Given the description of an element on the screen output the (x, y) to click on. 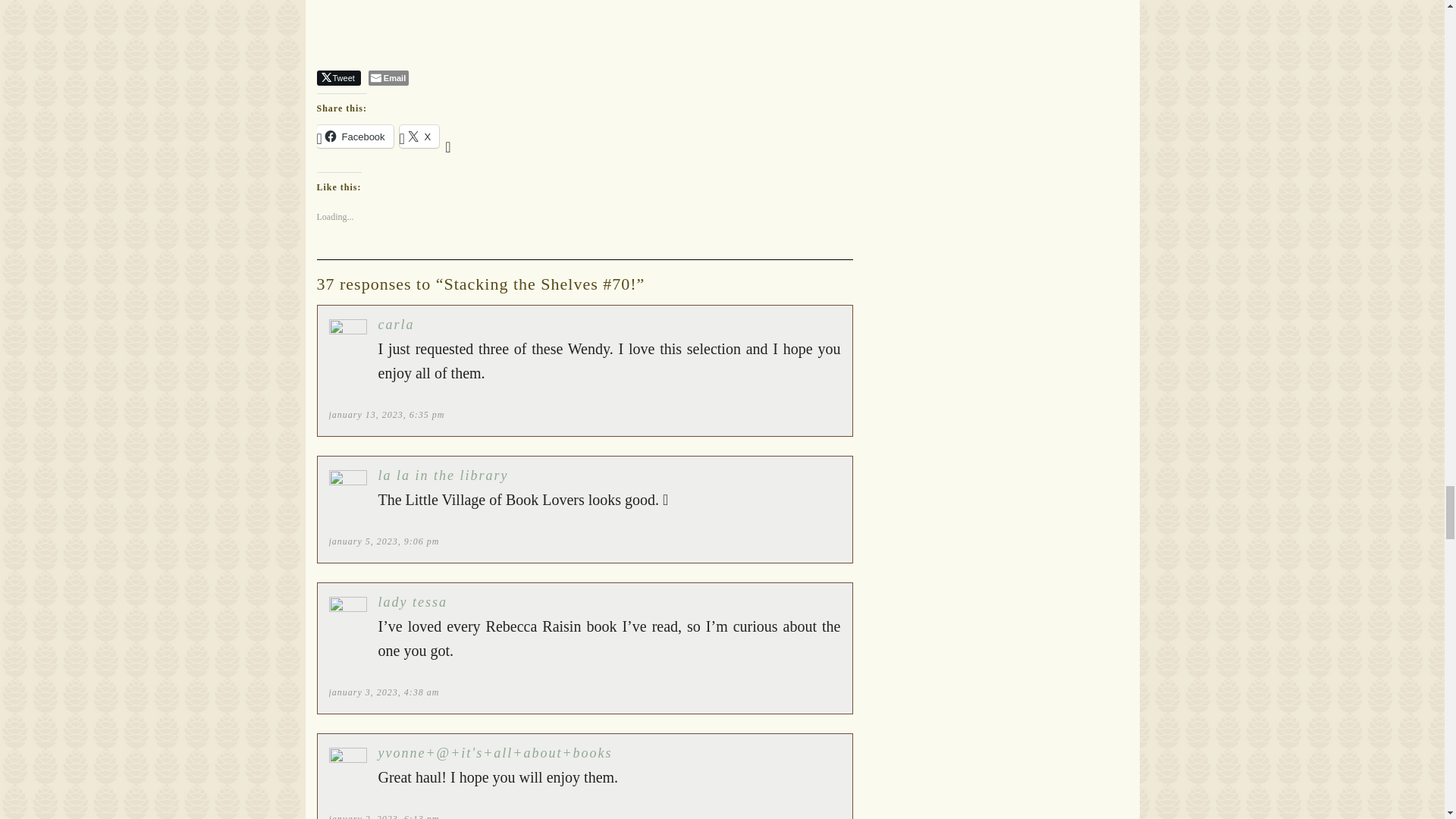
Click to share on X (418, 136)
carla (395, 324)
Click to share on Facebook (355, 136)
la la in the library (442, 475)
january 13, 2023, 6:35 pm (387, 414)
january 2, 2023, 6:13 pm (384, 816)
Email (388, 77)
X (418, 136)
Tweet (339, 77)
lady tessa (411, 601)
